Given the description of an element on the screen output the (x, y) to click on. 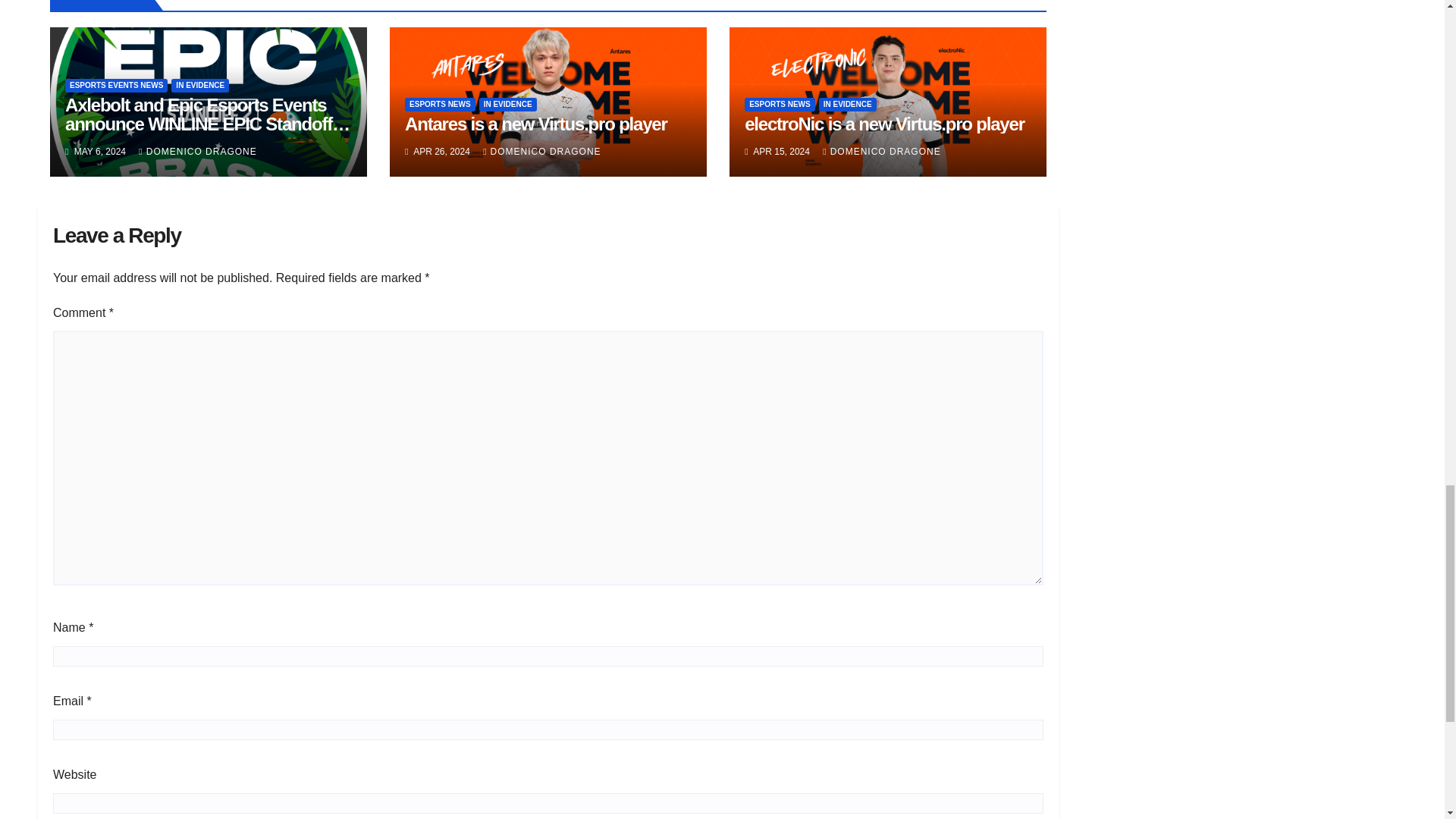
Permalink to: Antares is a new Virtus.pro player (535, 123)
Permalink to: electroNic is a new Virtus.pro player (884, 123)
ESPORTS EVENTS NEWS (116, 85)
IN EVIDENCE (199, 85)
DOMENICO DRAGONE (197, 151)
